Given the description of an element on the screen output the (x, y) to click on. 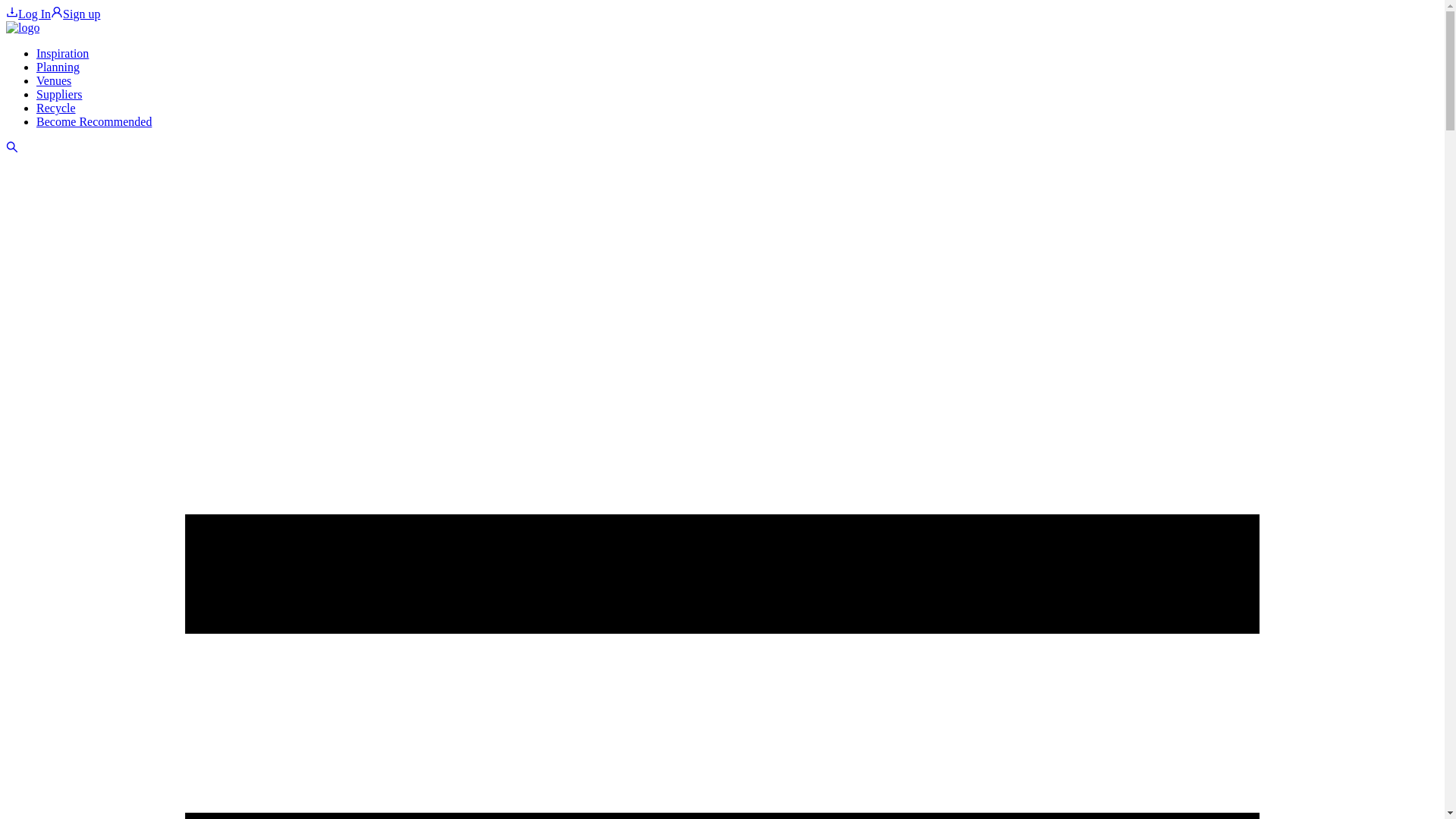
Log In (27, 13)
Planning (58, 66)
Suppliers (58, 93)
Become Recommended (93, 121)
Inspiration (62, 52)
Recycle (55, 107)
Venues (53, 80)
Sign up (75, 13)
